Given the description of an element on the screen output the (x, y) to click on. 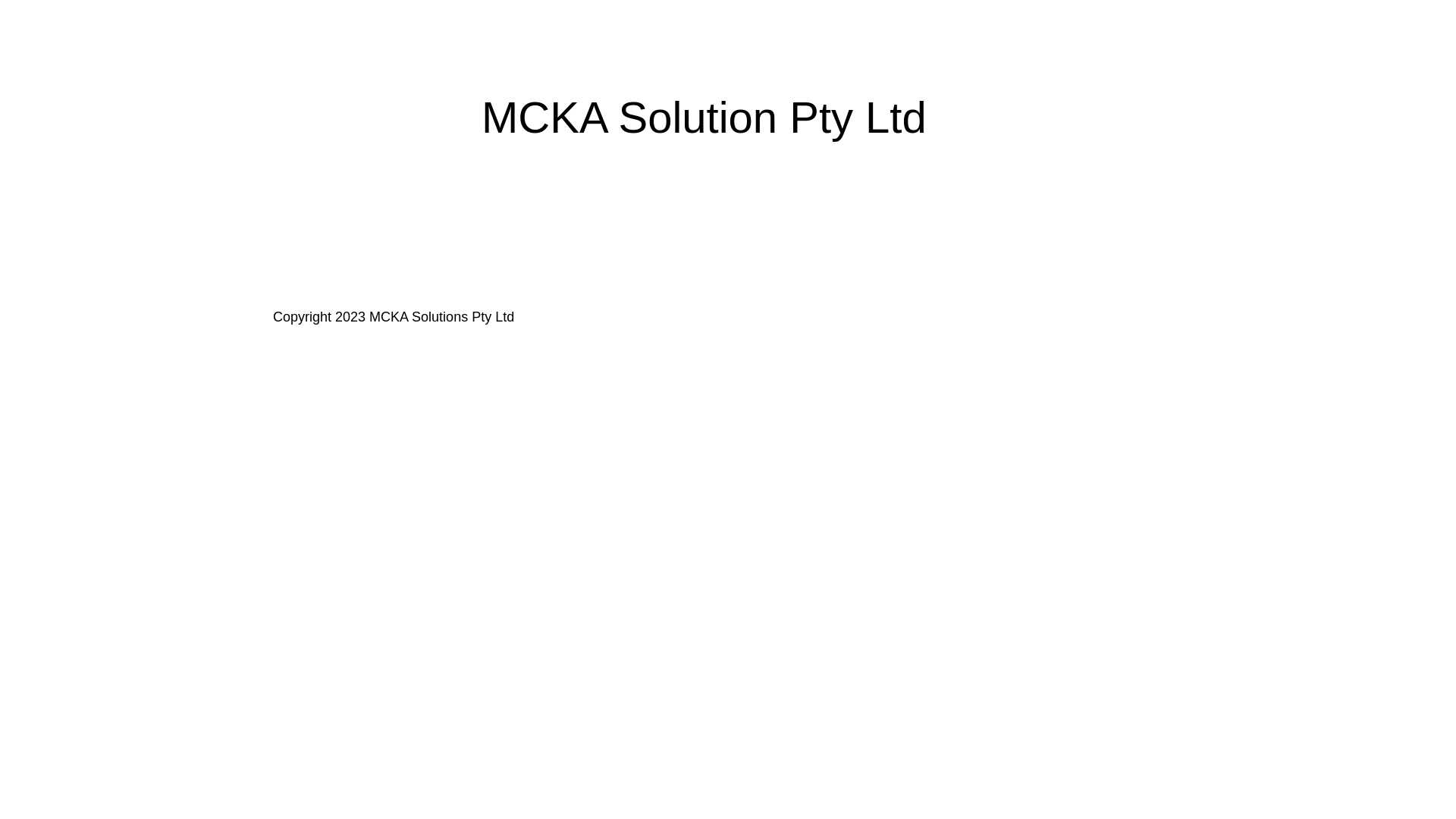
Copyright 2023 MCKA Solutions Pty Ltd Element type: text (393, 316)
